Given the description of an element on the screen output the (x, y) to click on. 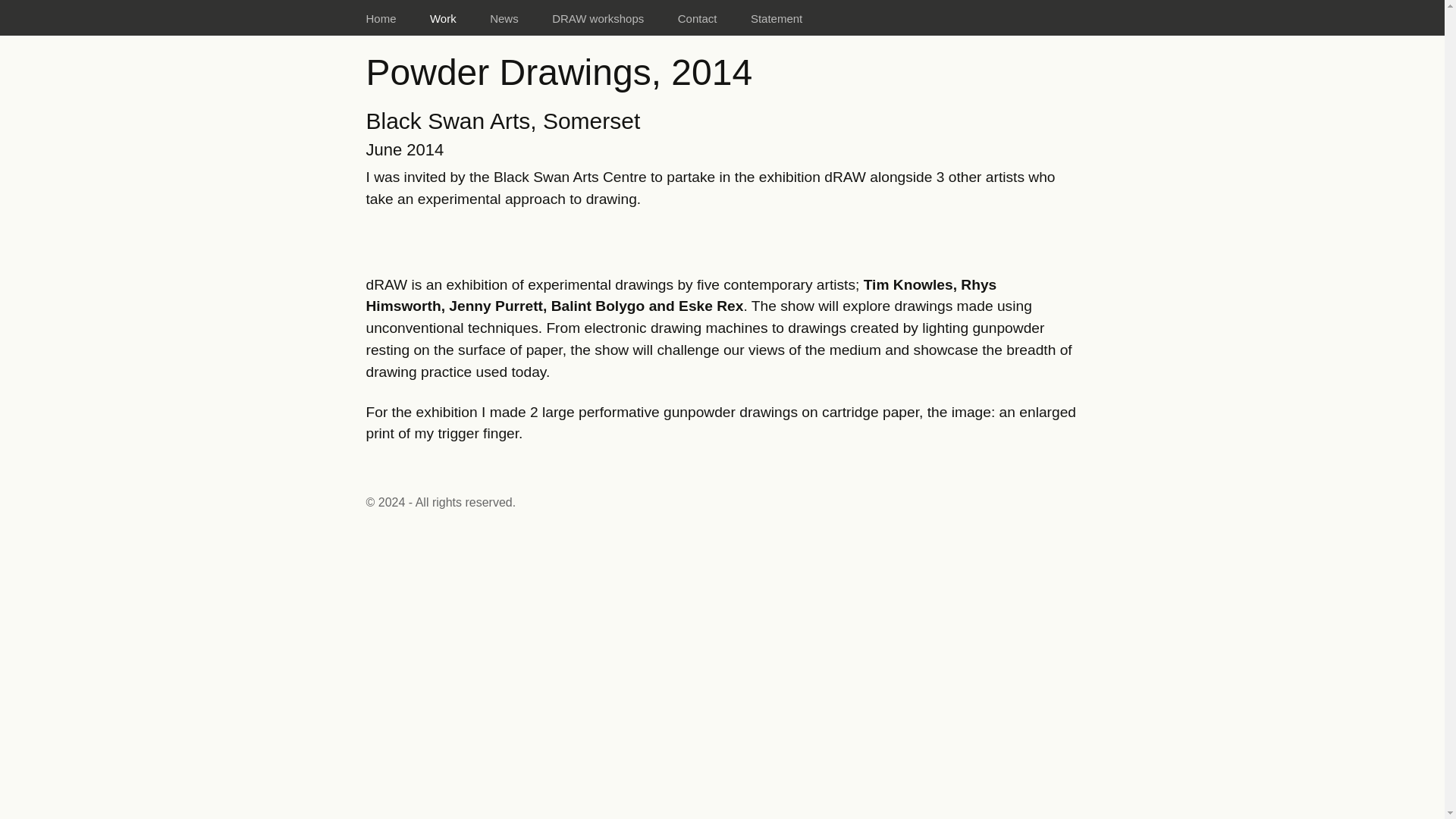
DRAW workshops (598, 18)
Statement (775, 18)
Contact (697, 18)
Work (442, 18)
News (504, 18)
Home (380, 18)
